Given the description of an element on the screen output the (x, y) to click on. 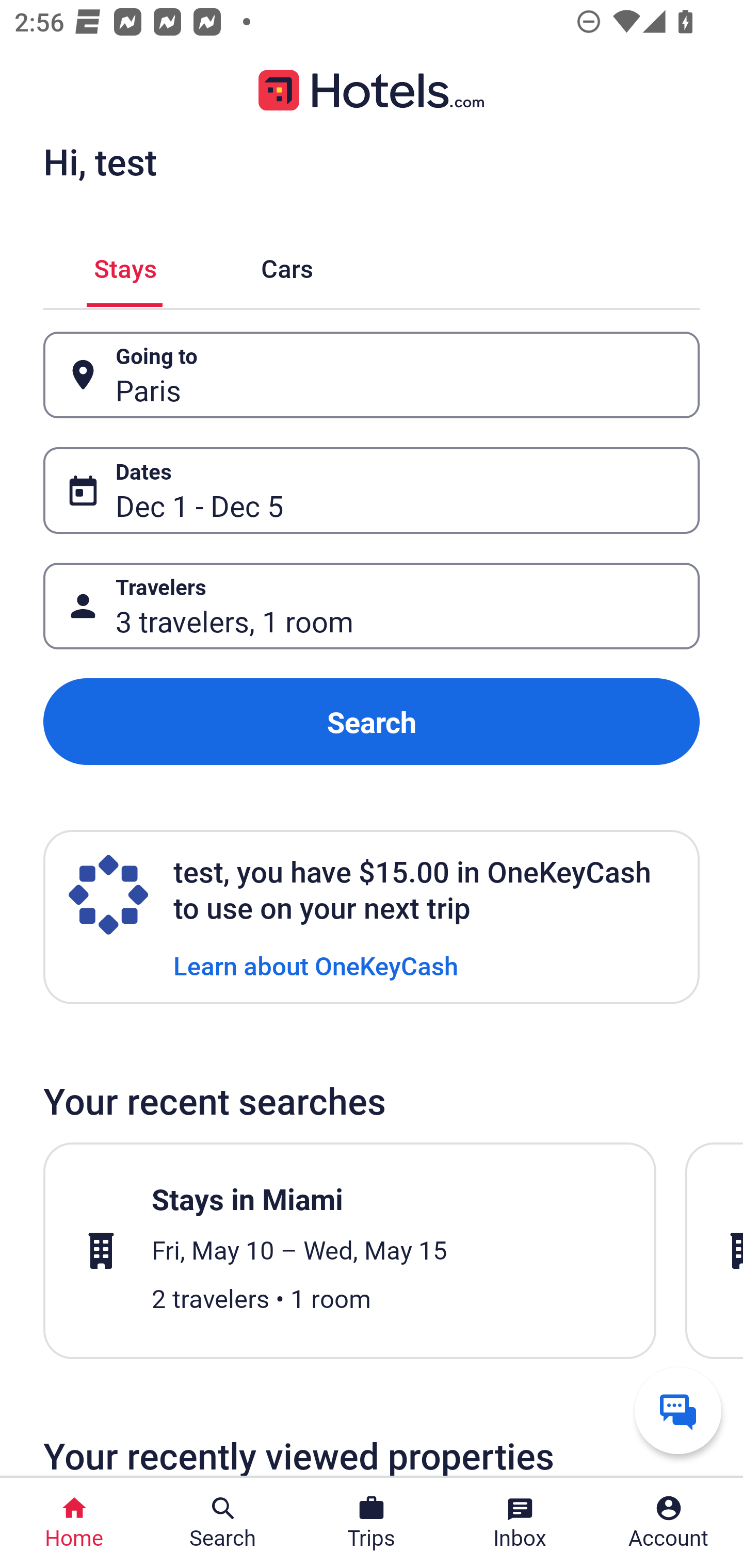
Hi, test (99, 161)
Cars (286, 265)
Going to Button Paris (371, 375)
Dates Button Dec 1 - Dec 5 (371, 489)
Travelers Button 3 travelers, 1 room (371, 605)
Search (371, 721)
Learn about OneKeyCash Learn about OneKeyCash Link (315, 964)
Get help from a virtual agent (677, 1410)
Search Search Button (222, 1522)
Trips Trips Button (371, 1522)
Inbox Inbox Button (519, 1522)
Account Profile. Button (668, 1522)
